Given the description of an element on the screen output the (x, y) to click on. 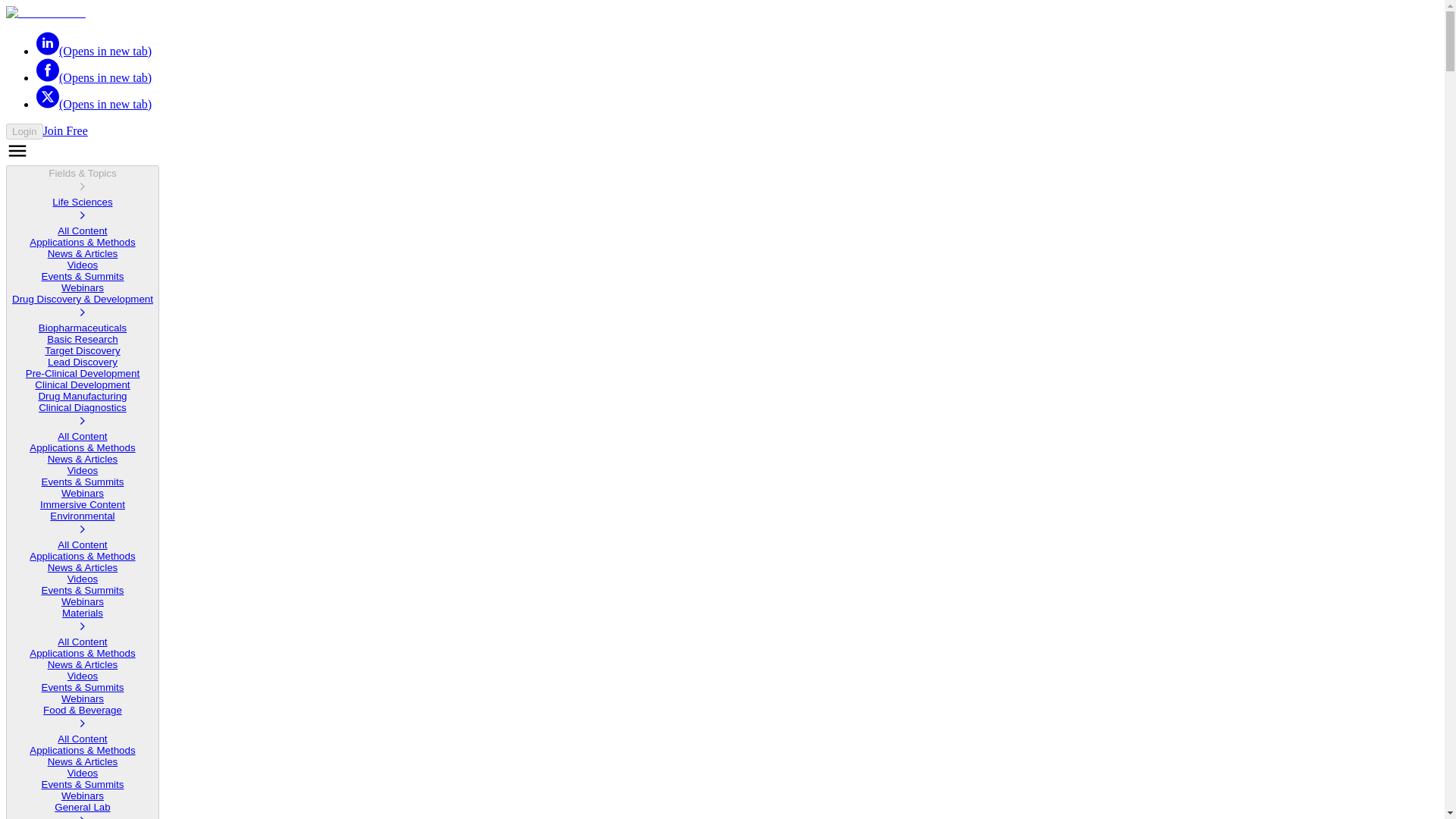
Target Discovery (82, 350)
Webinars (82, 287)
All Content (82, 230)
Immersive Content (82, 504)
Basic Research (81, 338)
All Content (82, 436)
Life Sciences (81, 210)
All Content (82, 544)
Materials (81, 621)
Webinars (82, 601)
